Given the description of an element on the screen output the (x, y) to click on. 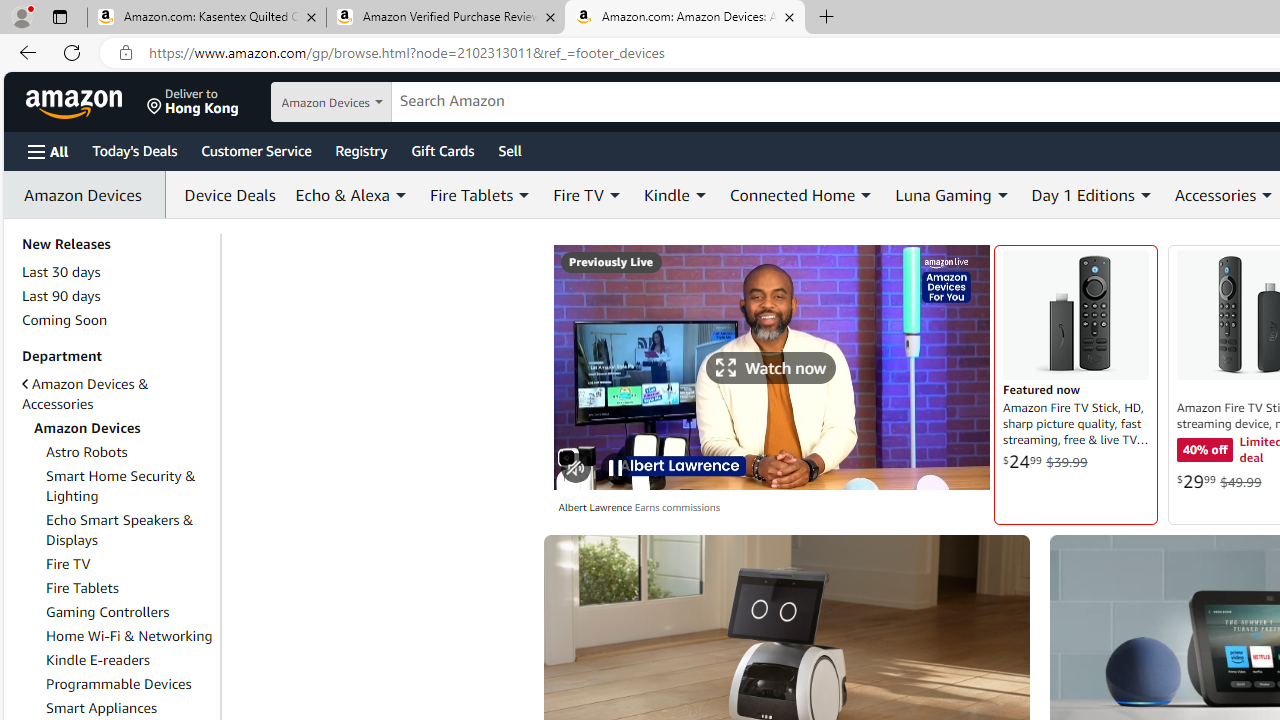
Home Wi-Fi & Networking (129, 636)
Last 30 days (61, 271)
Luna Gaming (943, 194)
Fire TV (129, 563)
Expand Day 1 Editions (1145, 195)
Day 1 Editions (1092, 194)
Kindle (676, 194)
Echo Smart Speakers & Displays (120, 529)
Expand Fire TV (614, 195)
Smart Home Security & Lighting (129, 485)
Kindle (665, 194)
Smart Appliances (129, 707)
